Given the description of an element on the screen output the (x, y) to click on. 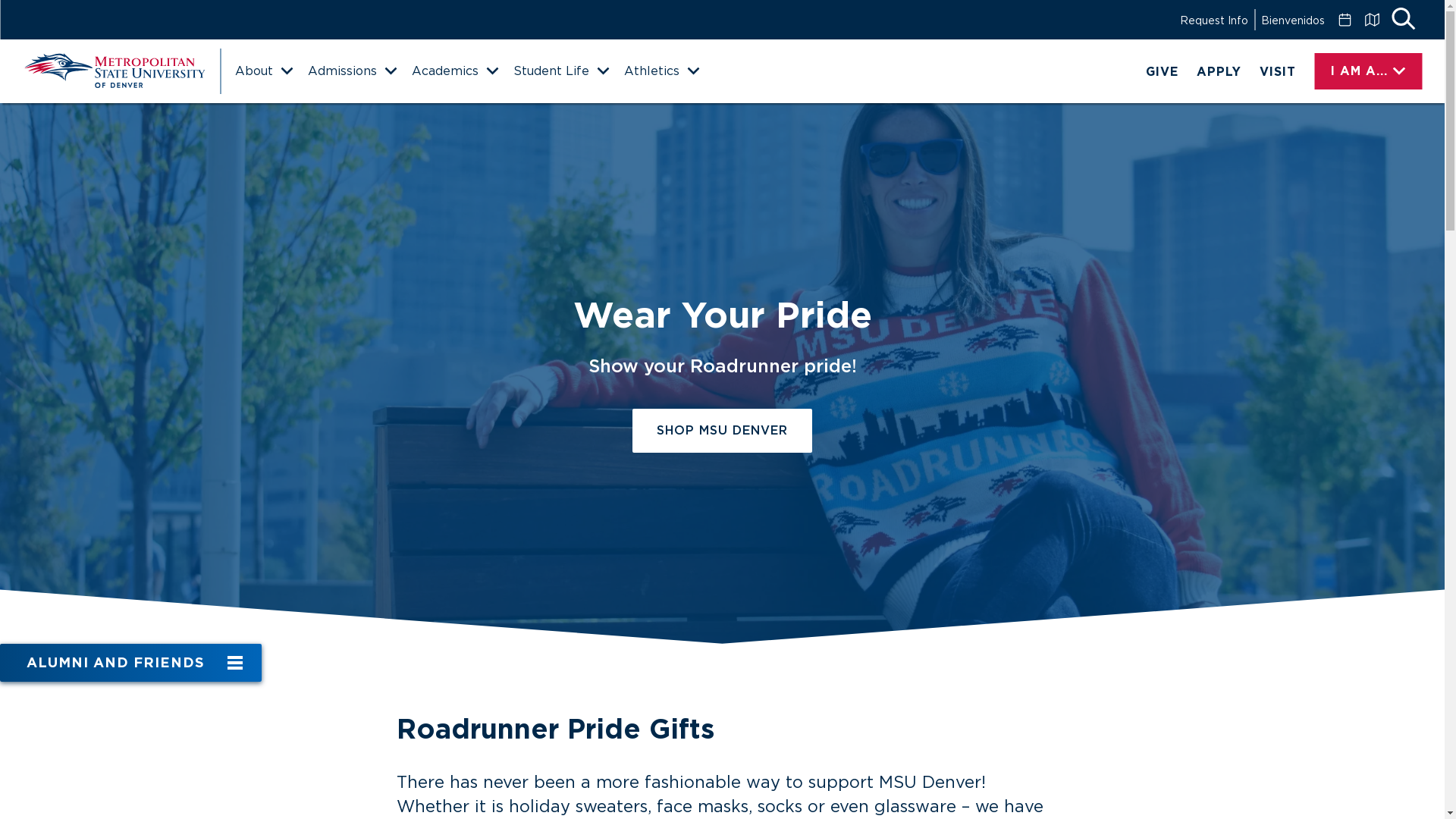
MSU Denver (114, 70)
About (263, 71)
Map (1371, 19)
Request Info (1213, 20)
Calendar (1344, 19)
Search (1403, 19)
Bienvenidos (1292, 20)
